Given the description of an element on the screen output the (x, y) to click on. 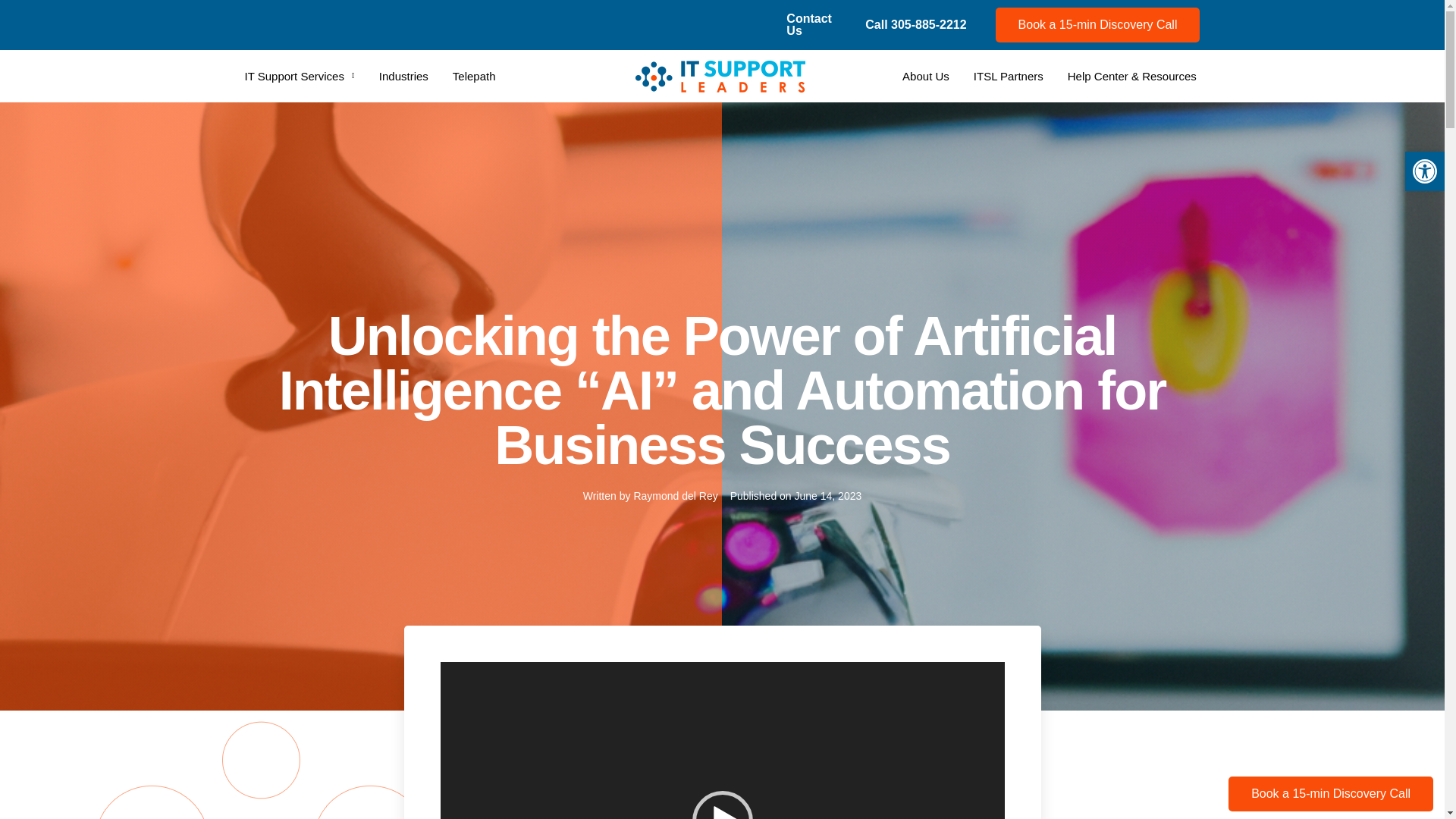
Accessibility Tools (1424, 170)
Industries (403, 71)
IT Support Services (298, 63)
ITSL Partners (1008, 76)
About Us (925, 76)
Call 305-885-2212 (915, 24)
Telepath (474, 72)
Book a 15-min Discovery Call (1097, 24)
Contact Us (808, 24)
